Given the description of an element on the screen output the (x, y) to click on. 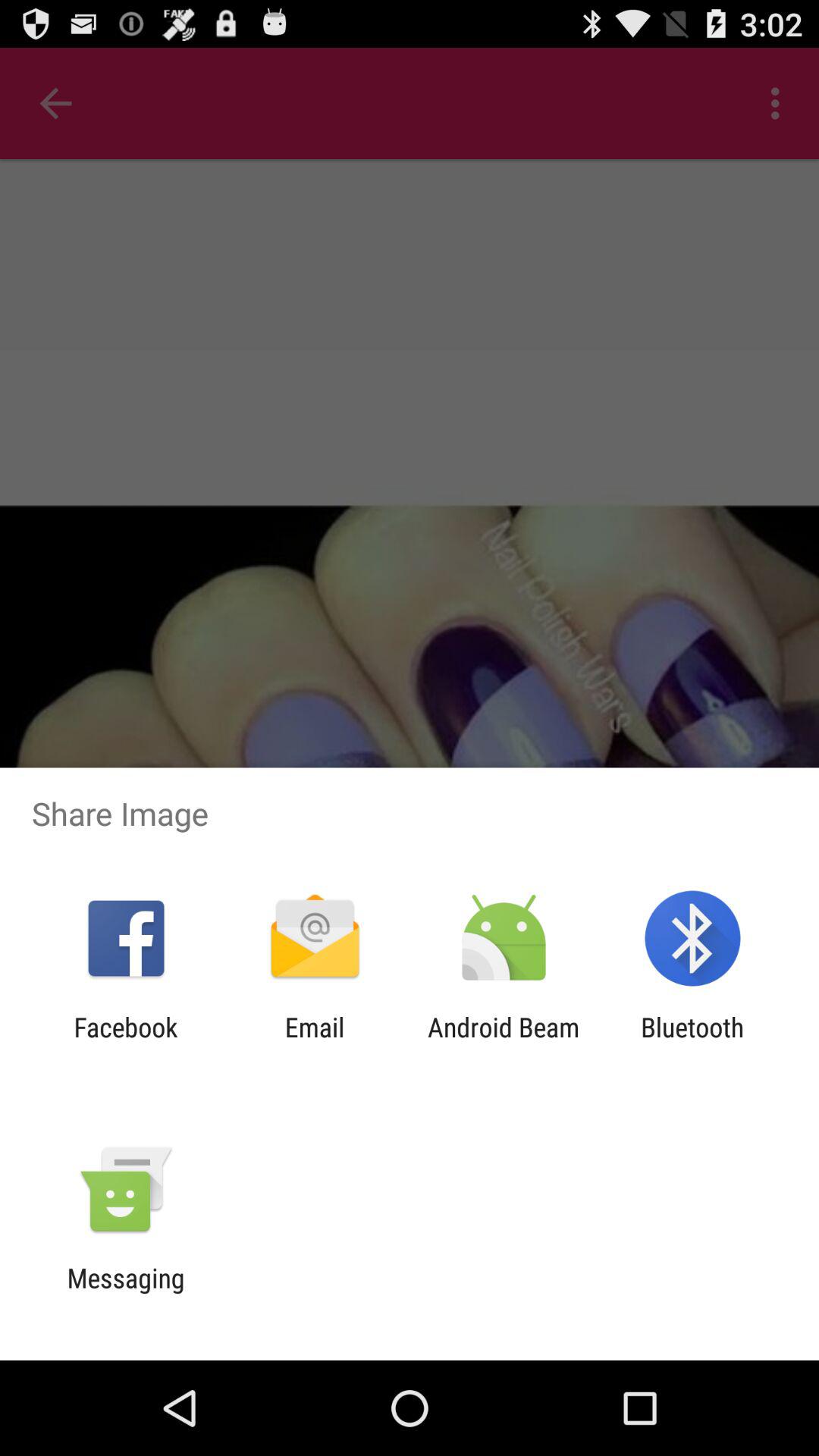
turn off bluetooth item (691, 1042)
